Given the description of an element on the screen output the (x, y) to click on. 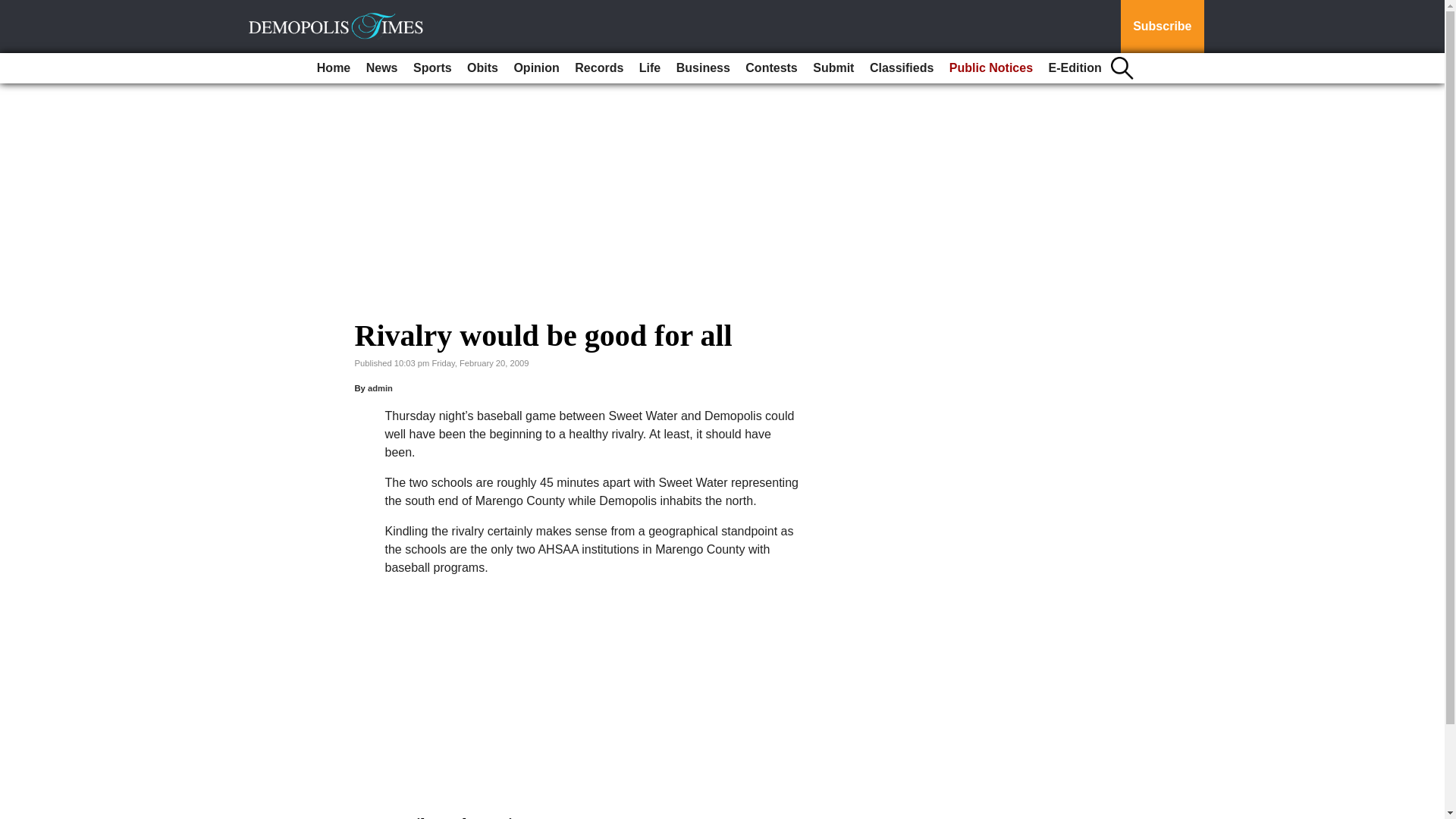
E-Edition (1075, 68)
Business (702, 68)
Submit (833, 68)
Public Notices (991, 68)
Records (598, 68)
Sports (432, 68)
Classifieds (901, 68)
Obits (482, 68)
admin (380, 388)
Life (649, 68)
Opinion (535, 68)
News (381, 68)
Home (333, 68)
Subscribe (1162, 26)
Go (13, 9)
